Given the description of an element on the screen output the (x, y) to click on. 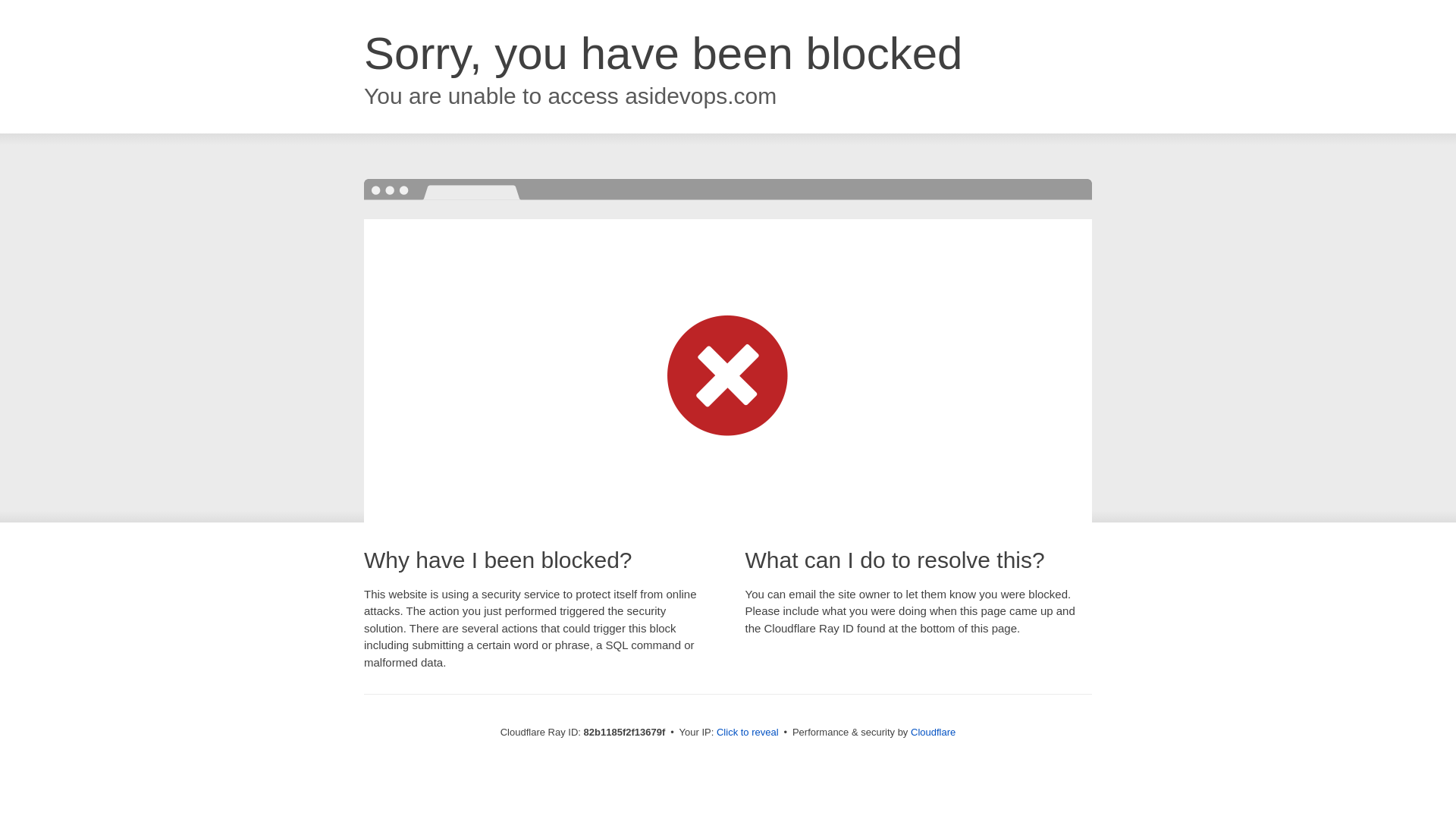
Click to reveal Element type: text (747, 732)
Cloudflare Element type: text (932, 731)
